Given the description of an element on the screen output the (x, y) to click on. 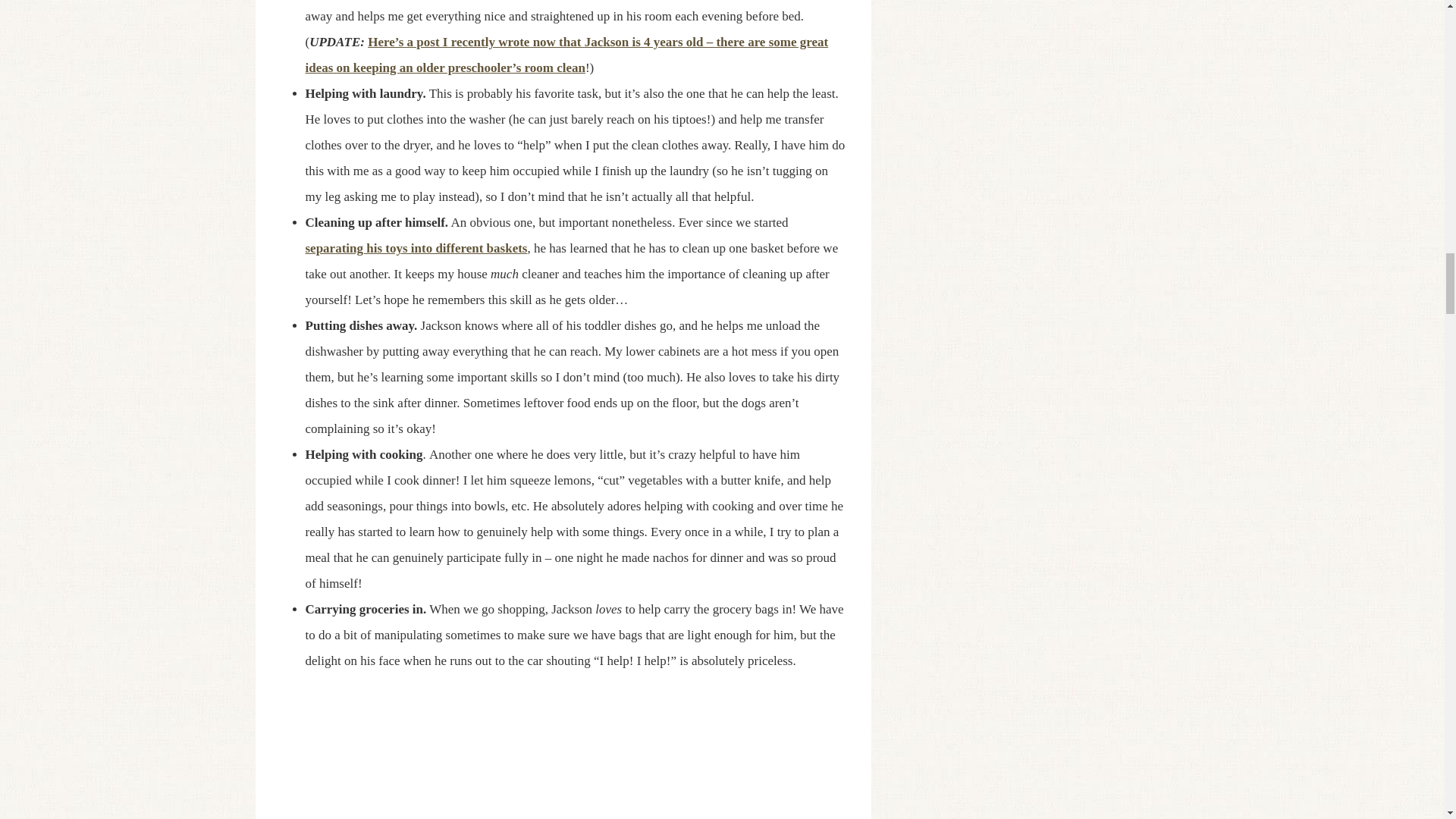
separating his toys into different baskets (415, 247)
